Given the description of an element on the screen output the (x, y) to click on. 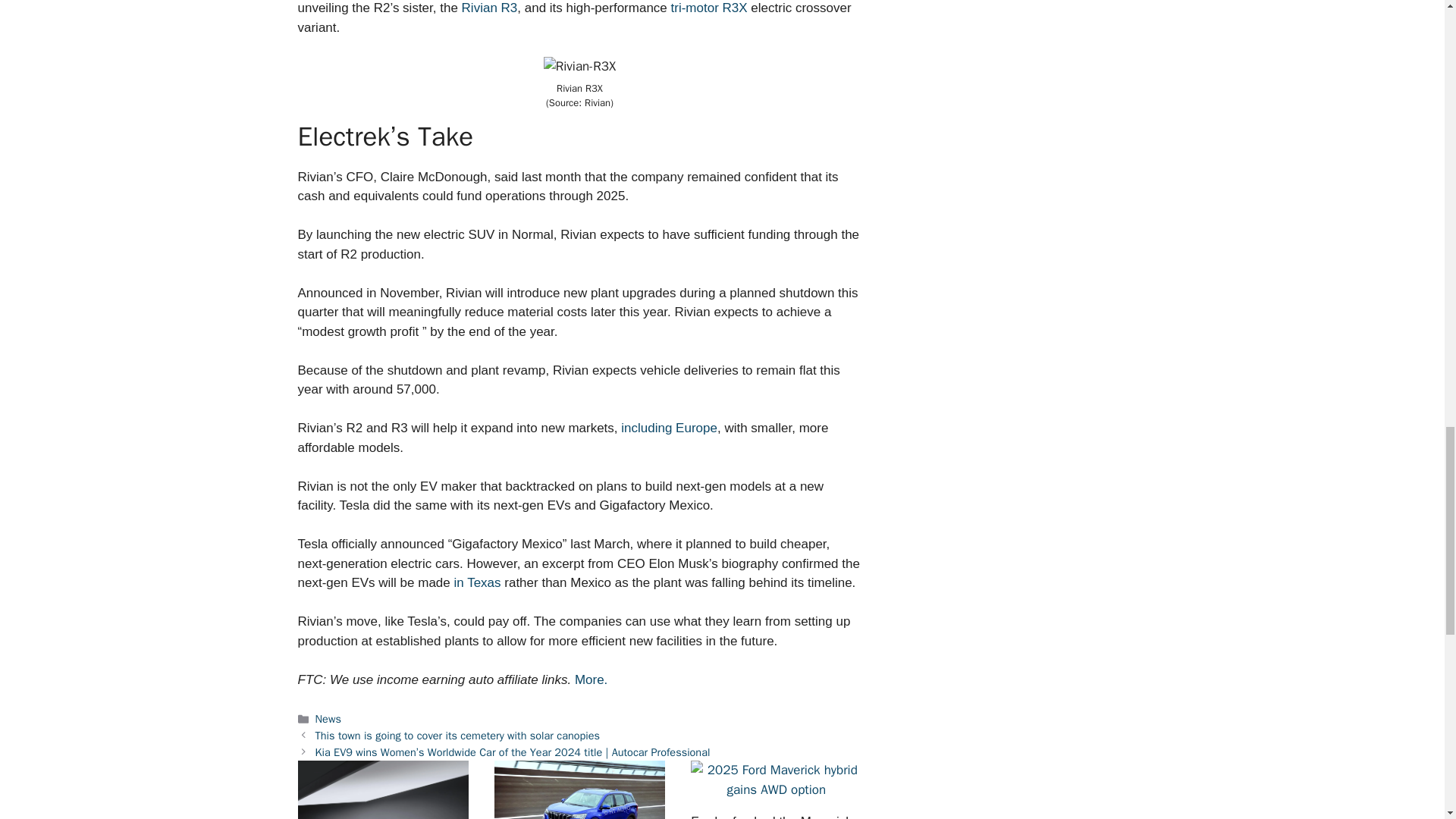
2025 Ford Maverick hybrid gains AWD option (775, 789)
2025 Ford Maverick hybrid gains AWD option (775, 779)
Audi A6 Sportback E-Tron evolves the electric car (382, 789)
